Given the description of an element on the screen output the (x, y) to click on. 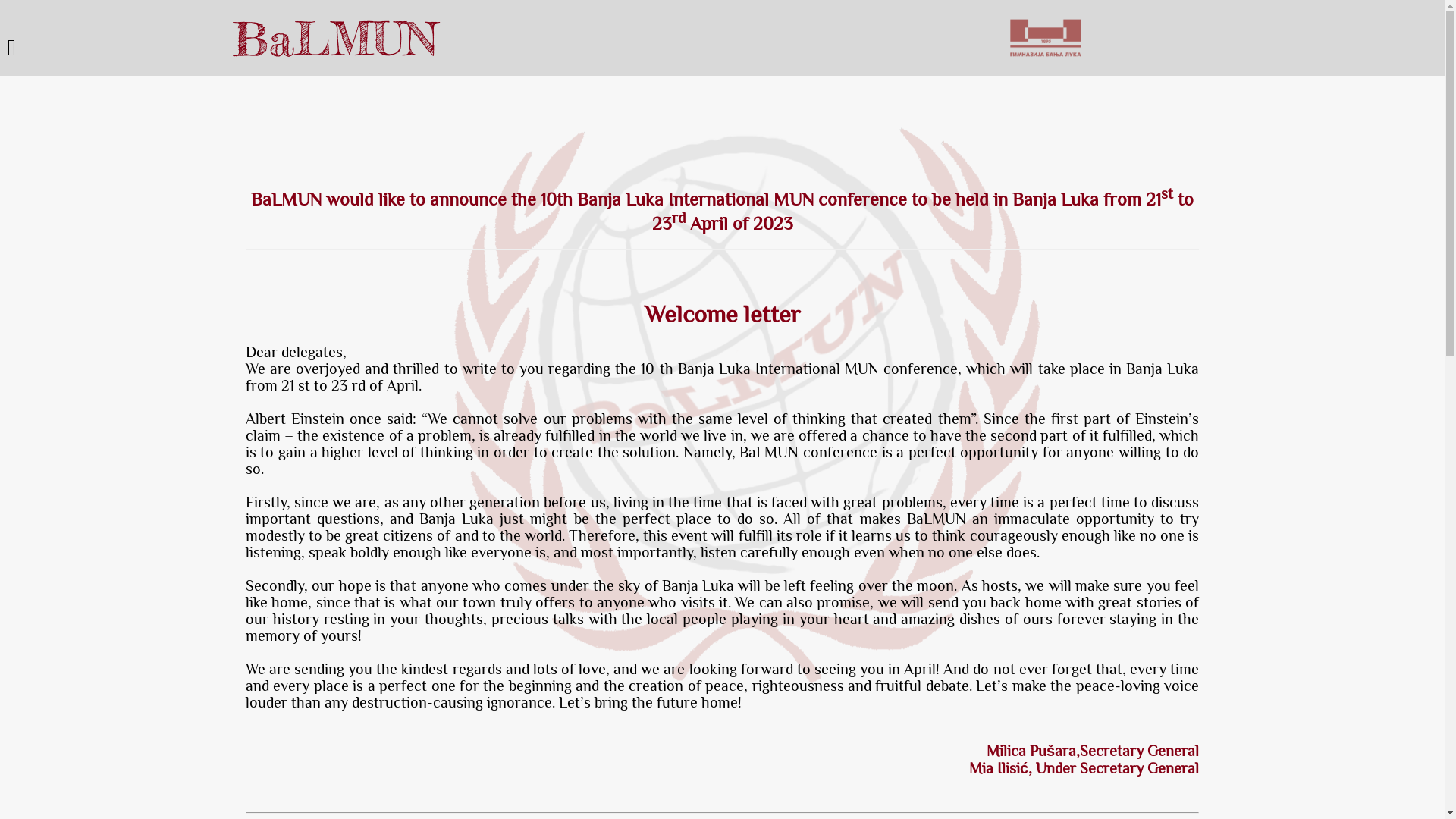
BaLMUN Element type: text (334, 38)
